Given the description of an element on the screen output the (x, y) to click on. 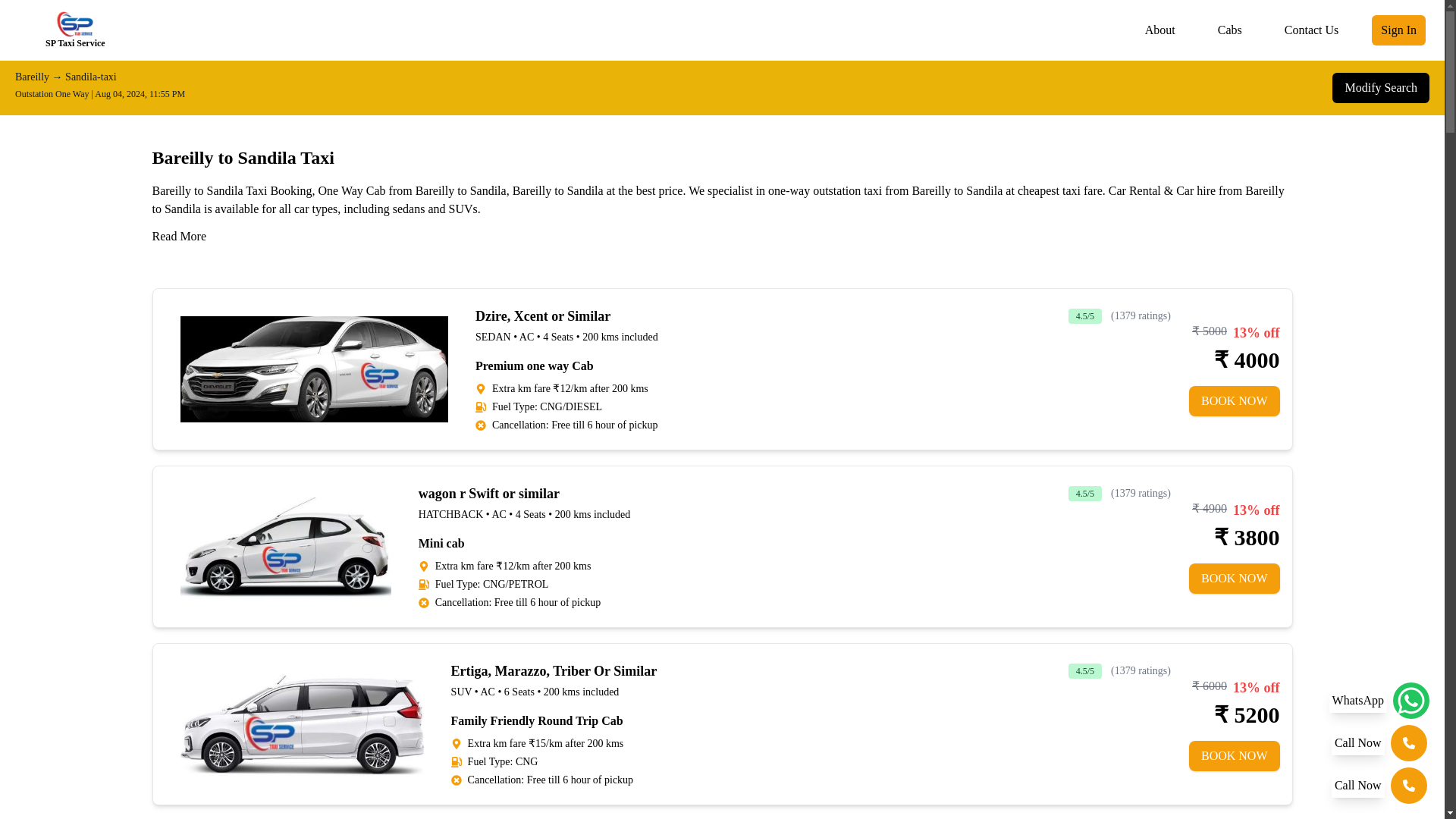
BOOK NOW (1234, 578)
BOOK NOW (1234, 756)
SP Taxi Service (74, 30)
Call Now (1379, 742)
WhatsApp (1379, 700)
BOOK NOW (1234, 400)
About (1160, 30)
Call Now (1379, 785)
Modify Search (1380, 87)
Read More (178, 236)
Sign In (1398, 30)
Contact Us (1311, 30)
Cabs (1229, 30)
